Given the description of an element on the screen output the (x, y) to click on. 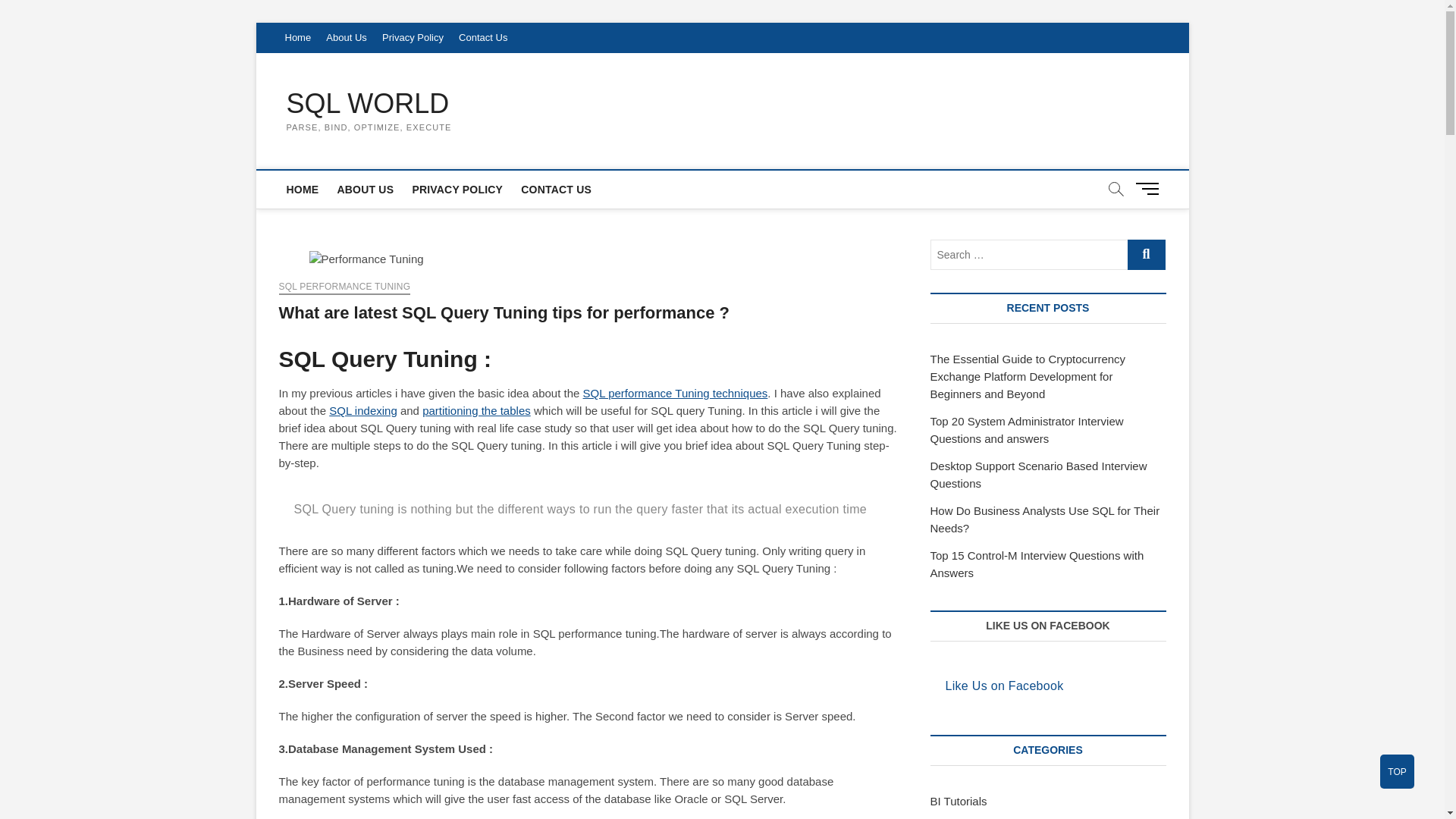
CONTACT US (555, 189)
Menu Button (1150, 187)
Home (298, 37)
About Us (346, 37)
Privacy Policy (412, 37)
ABOUT US (365, 189)
HOME (302, 189)
Contact Us (482, 37)
SQL WORLD (368, 103)
